Given the description of an element on the screen output the (x, y) to click on. 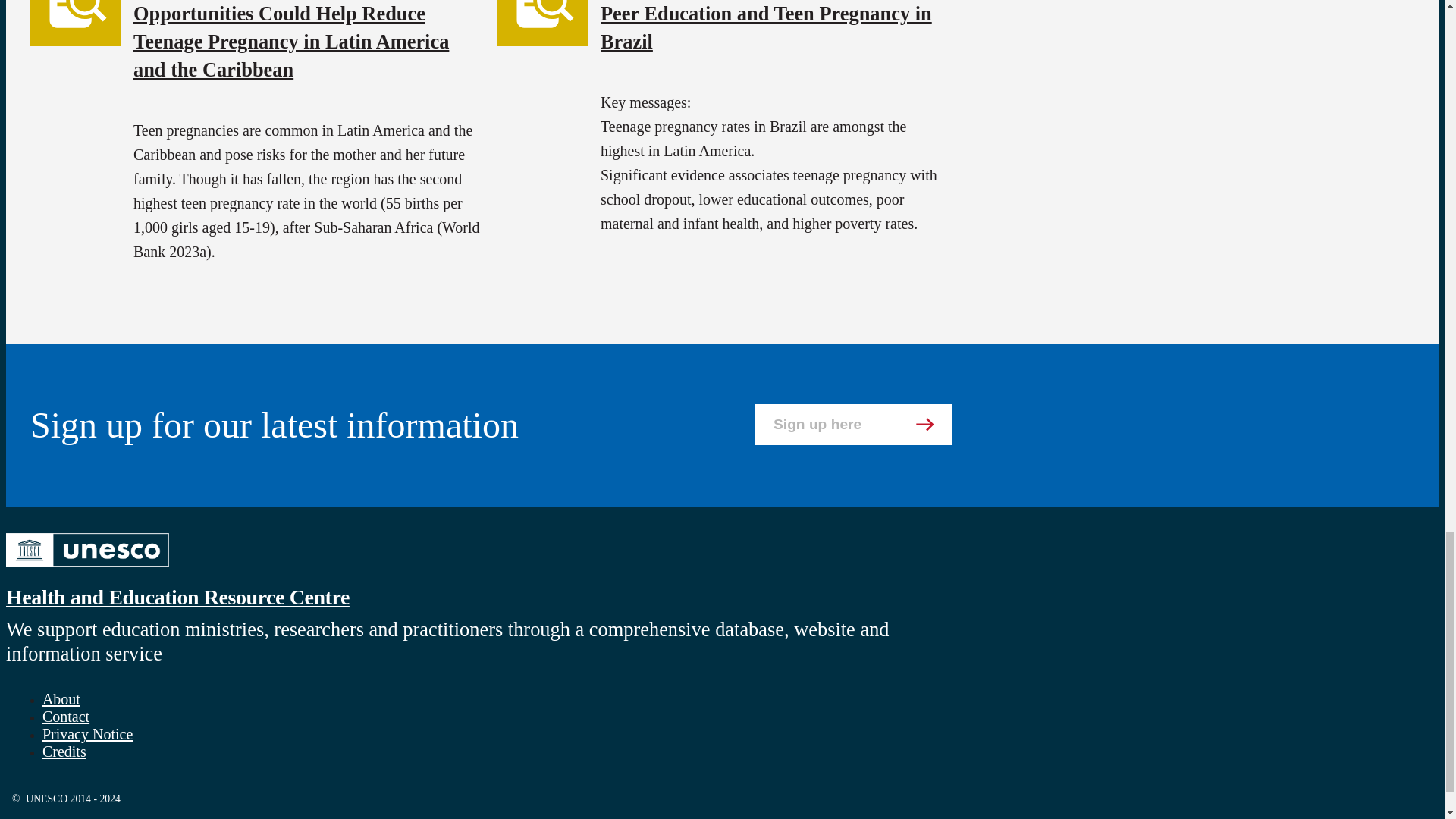
Home (86, 569)
Home (177, 597)
